Given the description of an element on the screen output the (x, y) to click on. 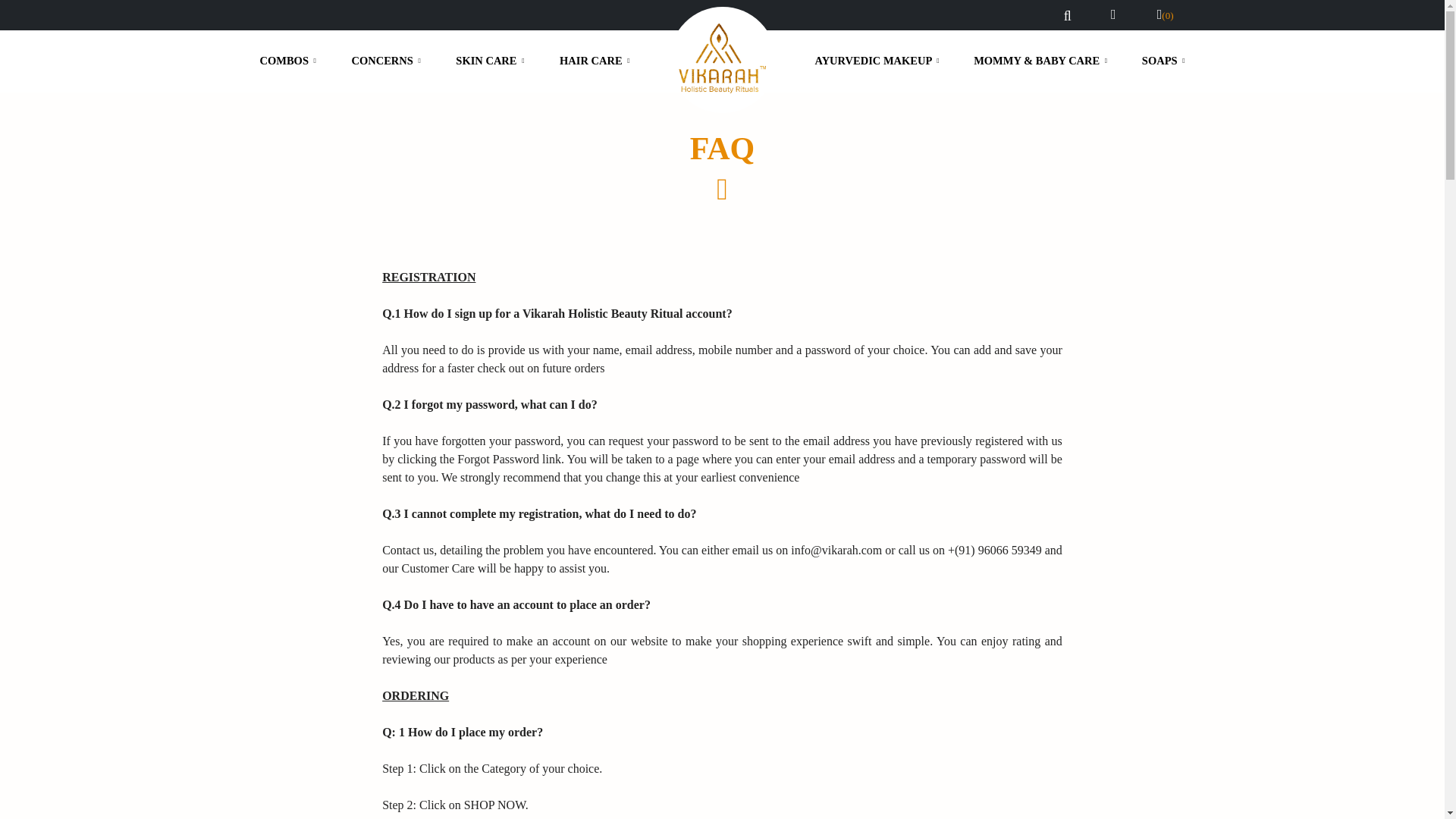
CONCERNS (385, 61)
SKIN CARE (489, 61)
HAIR CARE (594, 61)
COMBOS (287, 61)
